Given the description of an element on the screen output the (x, y) to click on. 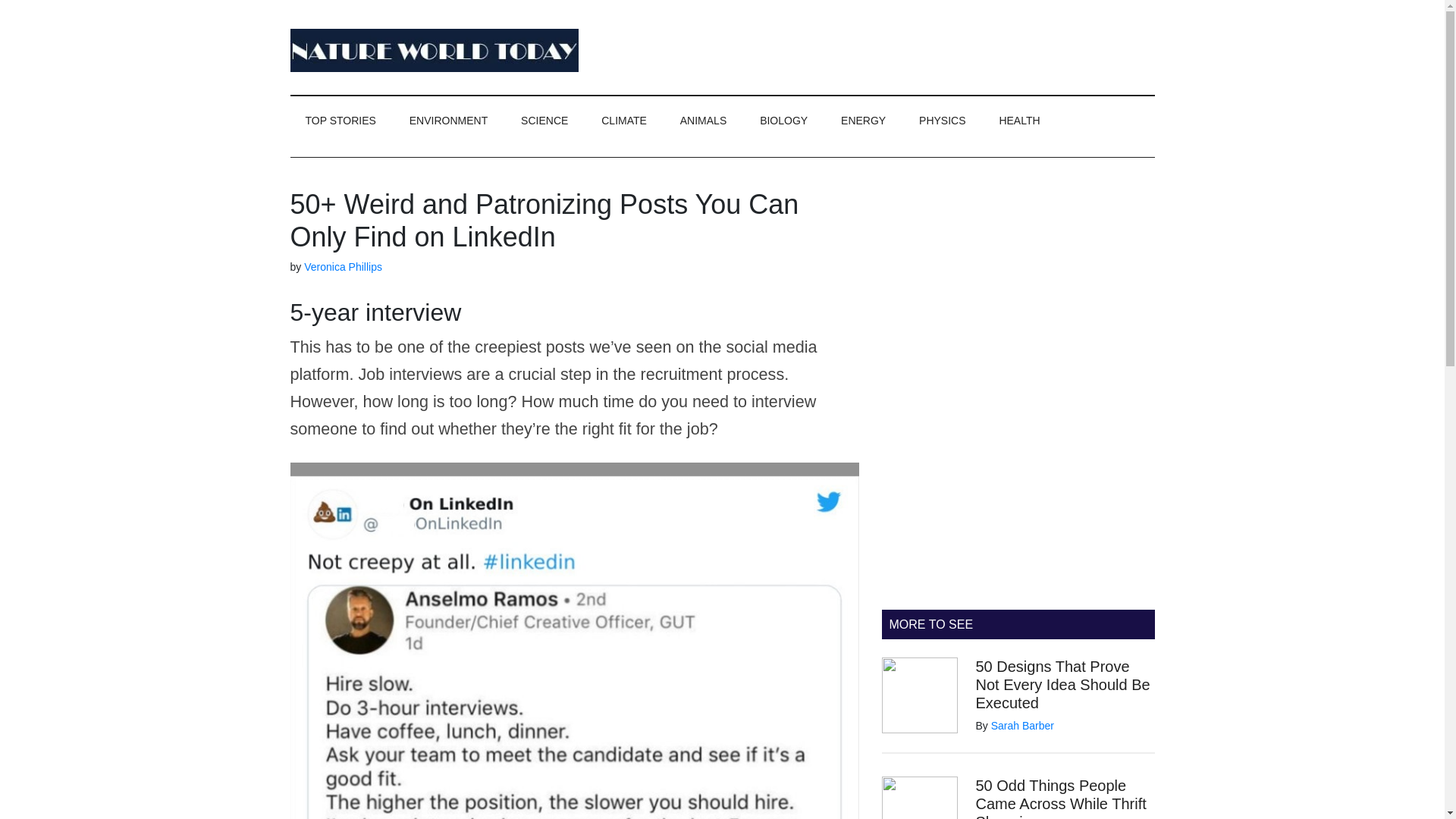
ENERGY (863, 120)
PHYSICS (941, 120)
SCIENCE (544, 120)
ENVIRONMENT (448, 120)
TOP STORIES (339, 120)
HEALTH (1019, 120)
CLIMATE (624, 120)
BIOLOGY (783, 120)
